Given the description of an element on the screen output the (x, y) to click on. 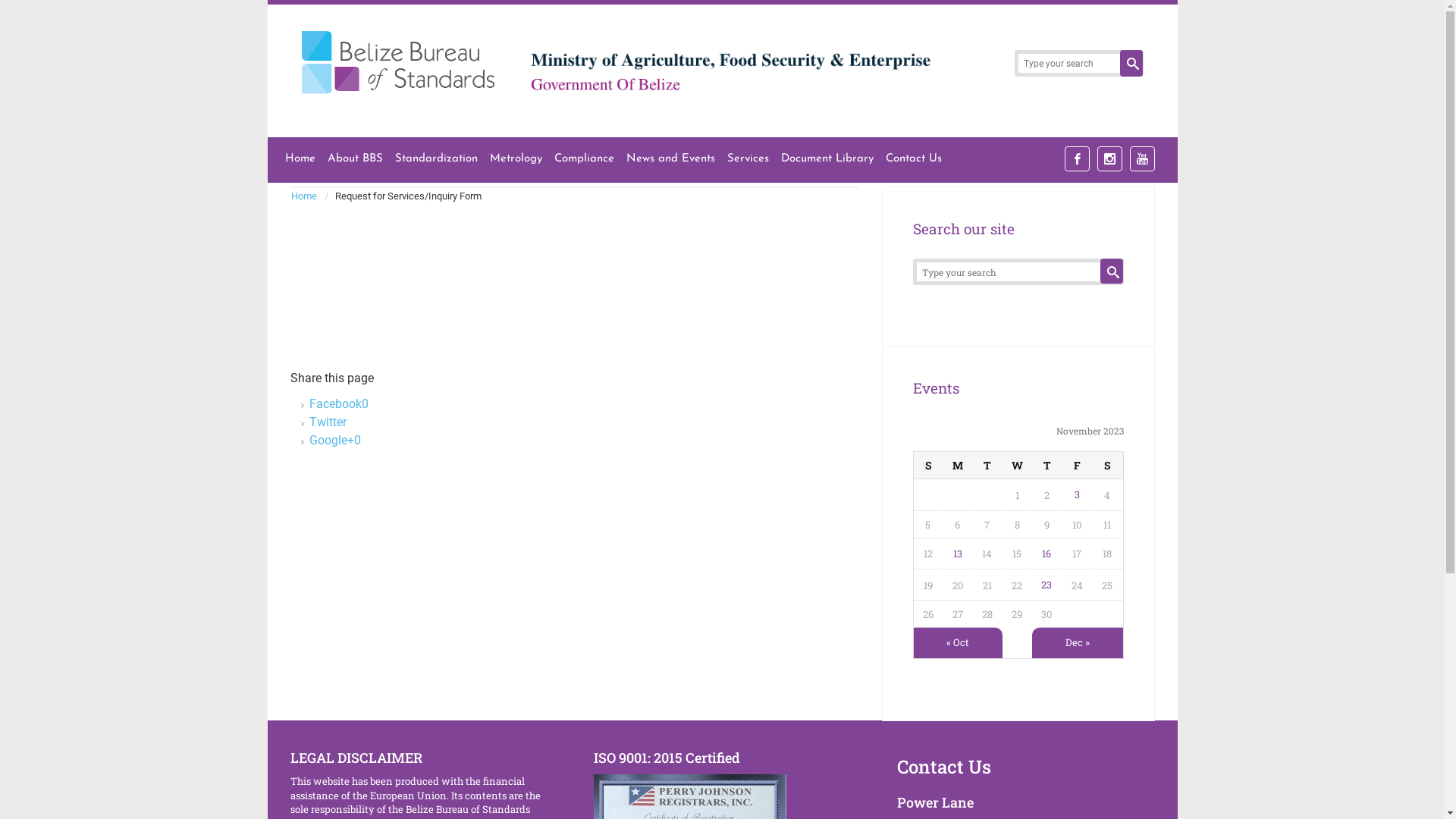
Contact Us Element type: text (913, 159)
Contact Us Element type: text (943, 766)
Home Element type: text (307, 195)
YouTube Element type: hover (1141, 158)
13 Element type: text (957, 553)
News and Events Element type: text (670, 159)
Facebook Element type: hover (1076, 158)
Facebook0 Element type: text (338, 403)
Google+0 Element type: text (334, 440)
Standardization Element type: text (435, 159)
3 Element type: text (1076, 494)
23 Element type: text (1046, 584)
About BBS Element type: text (354, 159)
Instagram Element type: hover (1108, 158)
Metrology Element type: text (515, 159)
Home Element type: text (300, 159)
Document Library Element type: text (827, 159)
Compliance Element type: text (583, 159)
Twitter Element type: text (327, 421)
16 Element type: text (1046, 553)
Services Element type: text (747, 159)
